Given the description of an element on the screen output the (x, y) to click on. 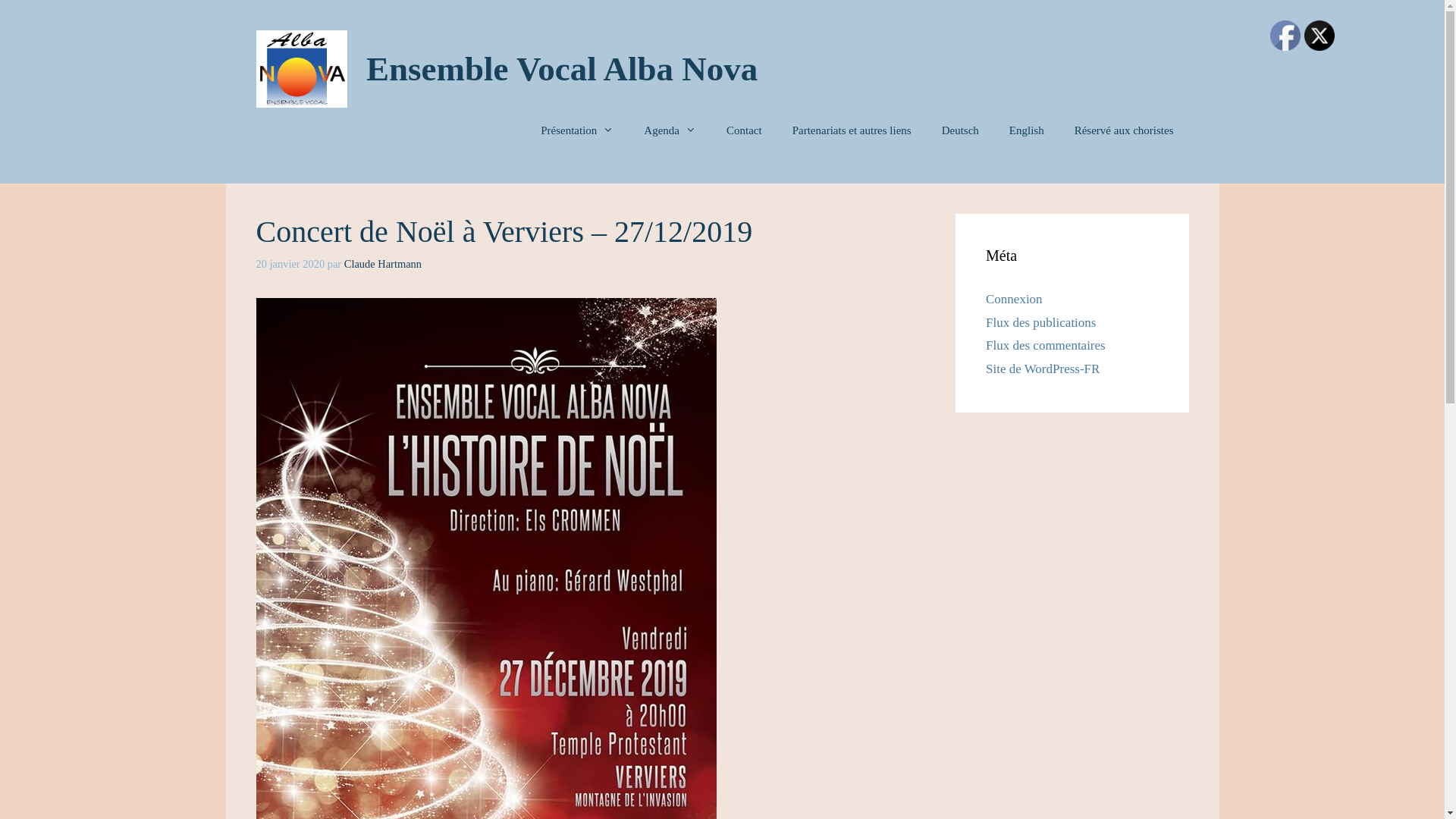
Claude Hartmann Element type: text (382, 263)
Flux des commentaires Element type: text (1045, 345)
Partenariats et autres liens Element type: text (851, 130)
Agenda Element type: text (669, 130)
Flux des publications Element type: text (1040, 322)
Ensemble Vocal Alba Nova Element type: text (561, 68)
English Element type: text (1026, 130)
Facebook Element type: hover (1285, 35)
Site de WordPress-FR Element type: text (1042, 368)
Connexion Element type: text (1013, 298)
Deutsch Element type: text (960, 130)
Contact Element type: text (744, 130)
Twitter Element type: hover (1319, 35)
